Given the description of an element on the screen output the (x, y) to click on. 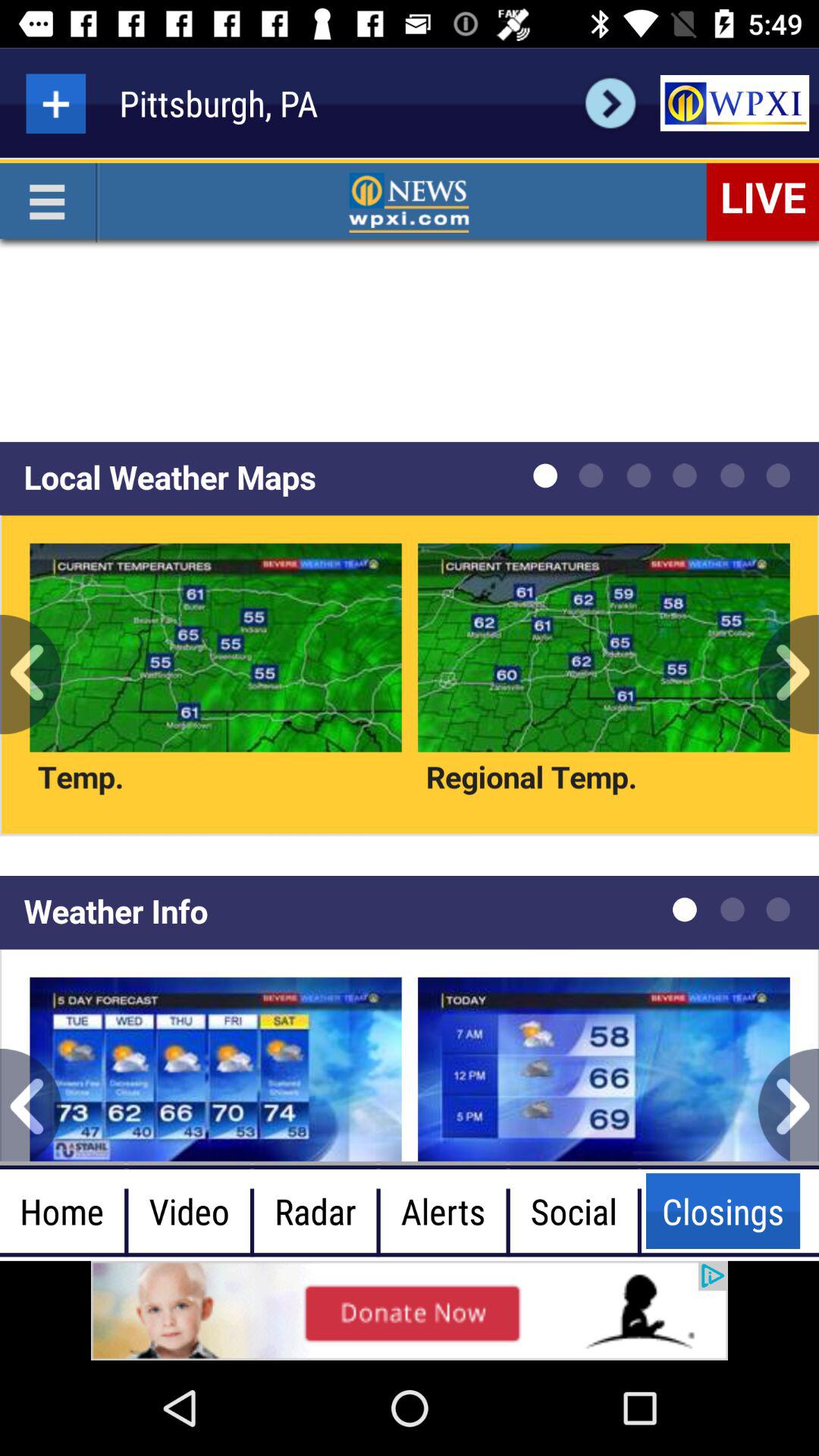
wpxi logo (734, 103)
